Given the description of an element on the screen output the (x, y) to click on. 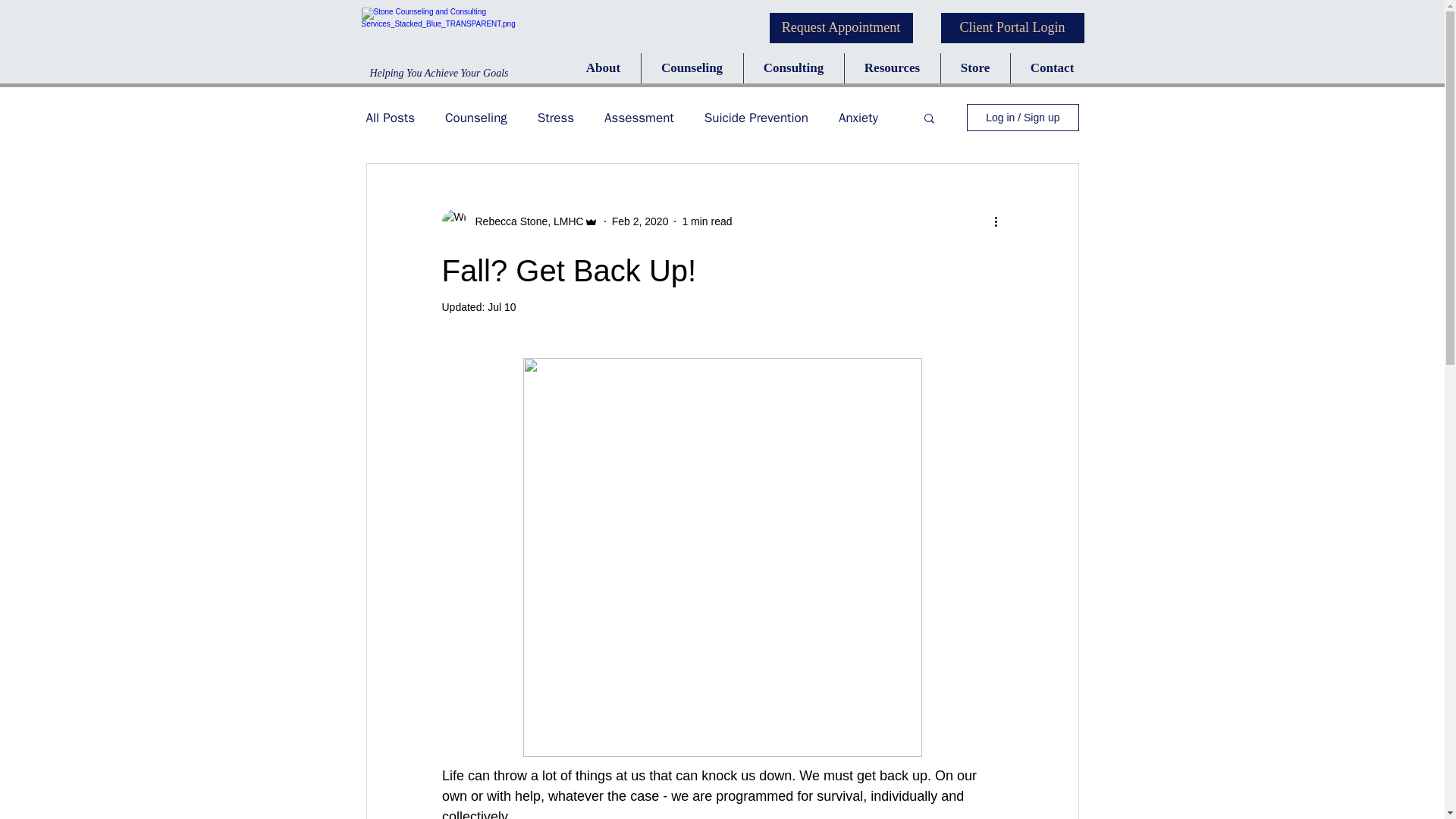
All Posts (389, 117)
Store (974, 68)
Client Portal Login (1011, 28)
1 min read (706, 221)
Anxiety (857, 117)
Suicide Prevention (756, 117)
Rebecca Stone, LMHC (524, 221)
Assessment (639, 117)
Stress (555, 117)
Request Appointment (840, 28)
